Given the description of an element on the screen output the (x, y) to click on. 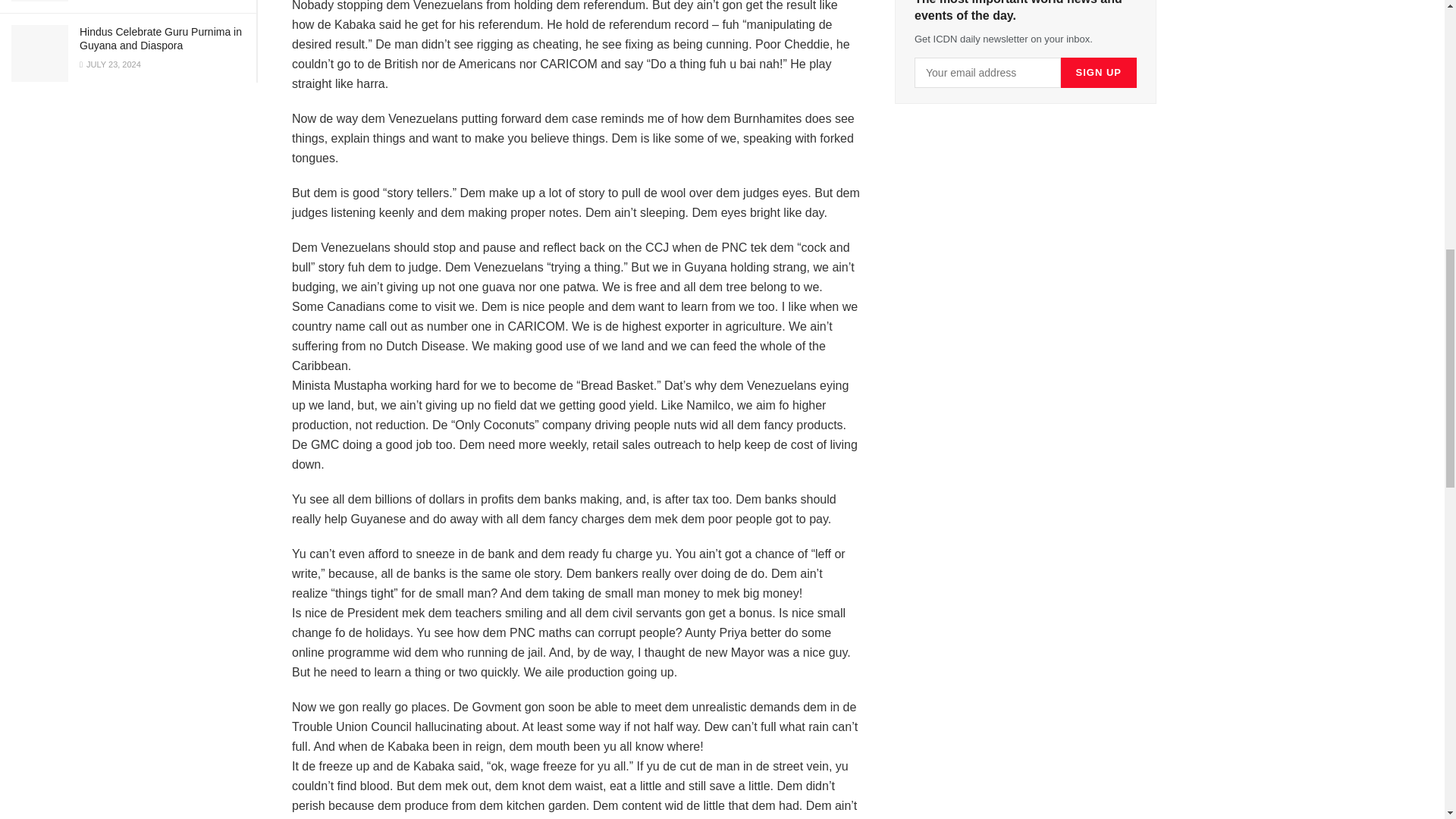
Sign up (1099, 72)
Hindus Celebrate Guru Purnima in Guyana and Diaspora (160, 38)
